Given the description of an element on the screen output the (x, y) to click on. 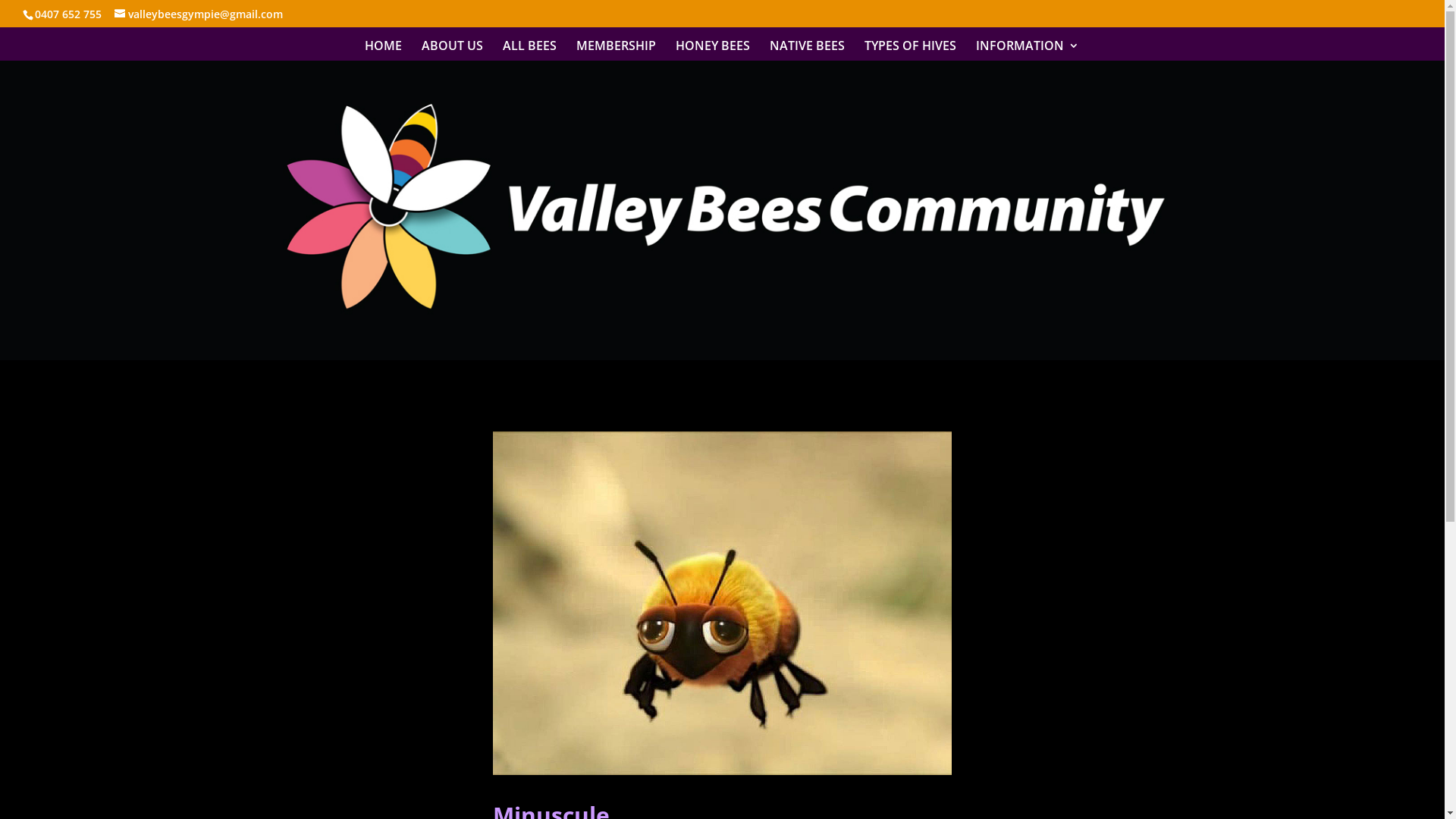
HONEY BEES Element type: text (711, 50)
MEMBERSHIP Element type: text (615, 50)
ALL BEES Element type: text (528, 50)
ABOUT US Element type: text (452, 50)
HOME Element type: text (382, 50)
INFORMATION Element type: text (1026, 50)
TYPES OF HIVES Element type: text (910, 50)
NATIVE BEES Element type: text (806, 50)
valleybeesgympie@gmail.com Element type: text (198, 13)
